Given the description of an element on the screen output the (x, y) to click on. 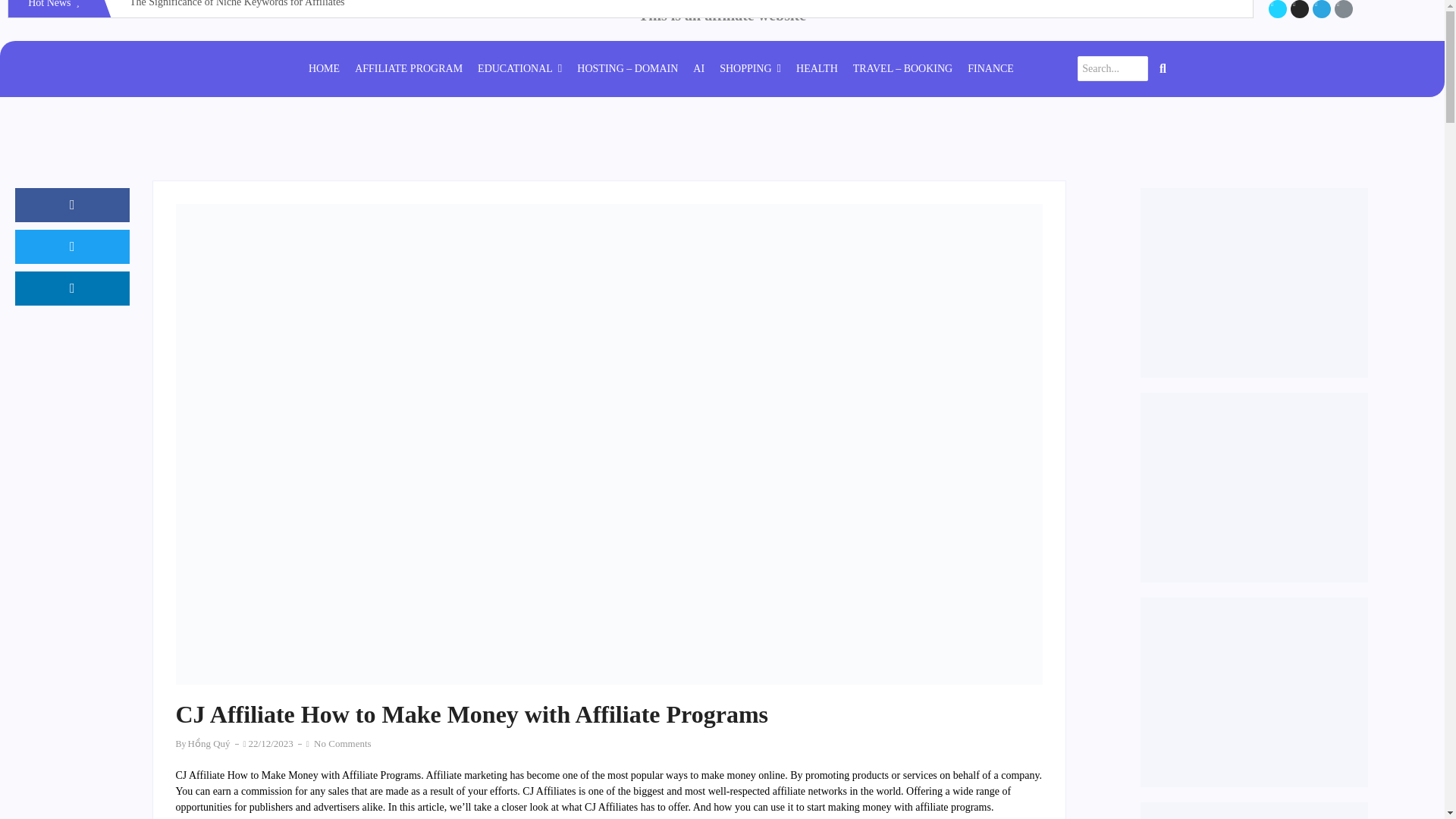
AFFILIATE PROGRAM (409, 68)
FINANCE (990, 68)
SHOPPING (749, 68)
writesonic (1254, 282)
Acorns affiliate (1254, 692)
Search (1112, 68)
EDUCATIONAL (630, 9)
HEALTH (519, 68)
HOME (817, 68)
